Given the description of an element on the screen output the (x, y) to click on. 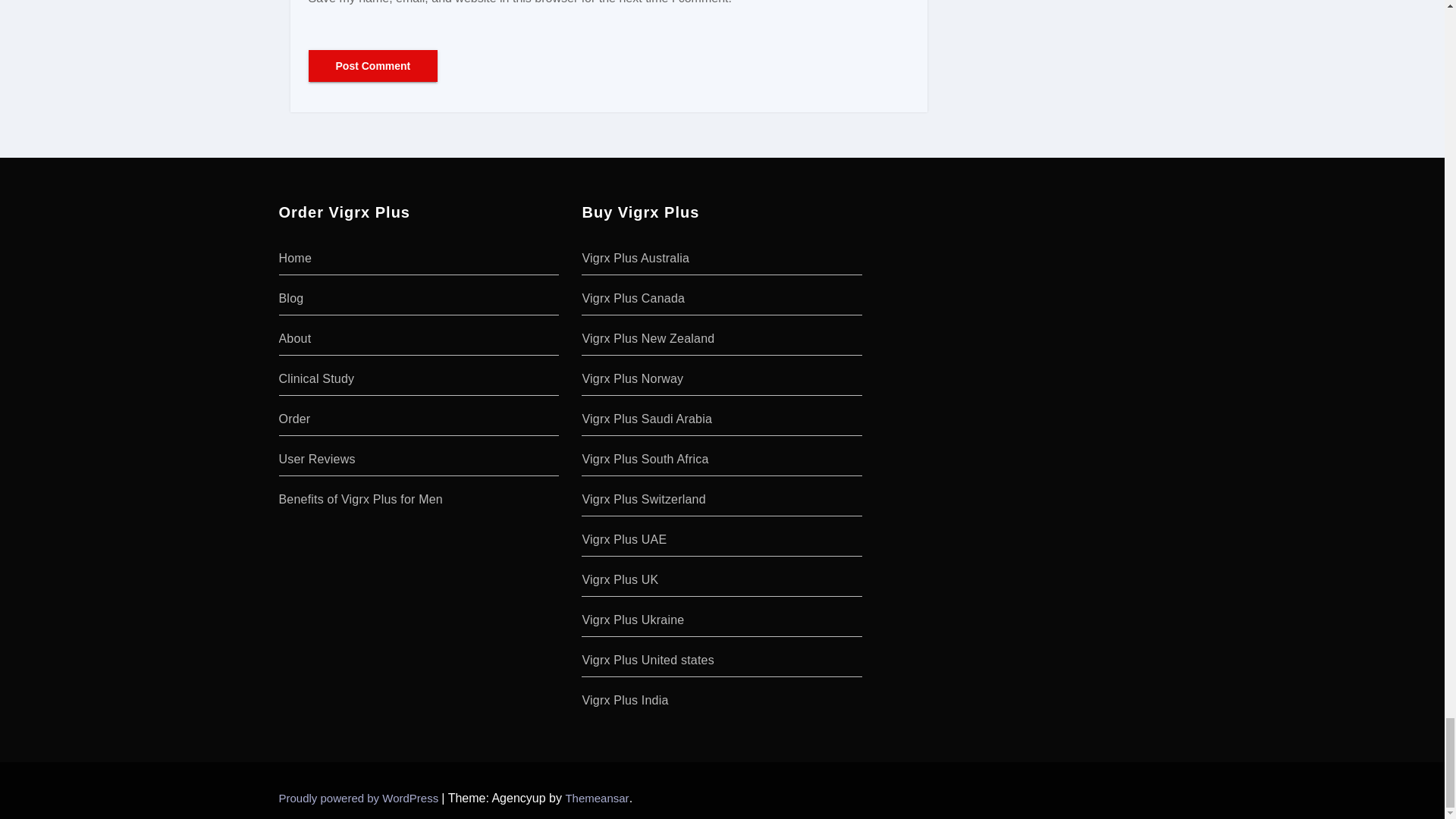
Post Comment (372, 65)
